Given the description of an element on the screen output the (x, y) to click on. 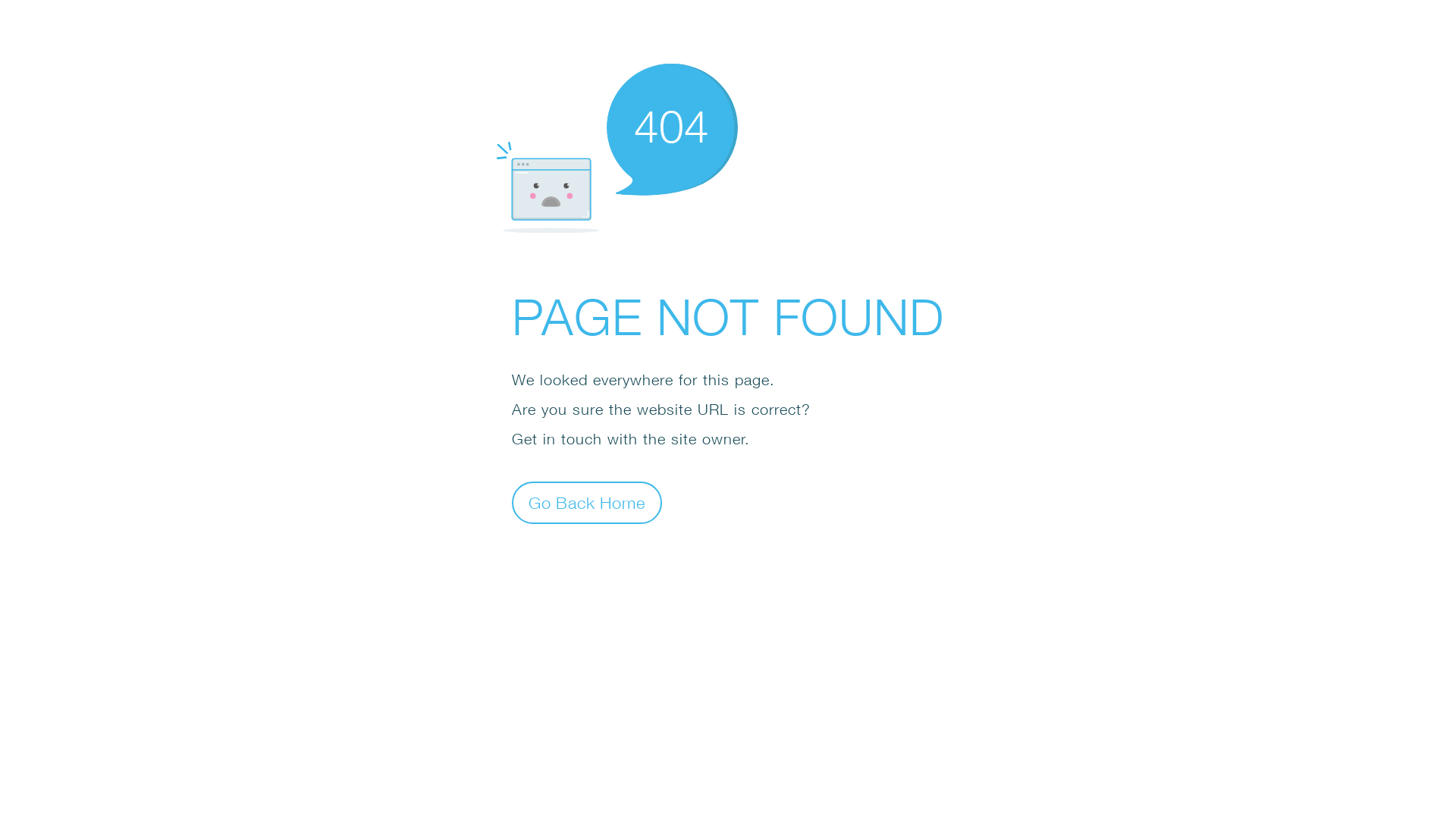
Go Back Home Element type: text (586, 502)
